Given the description of an element on the screen output the (x, y) to click on. 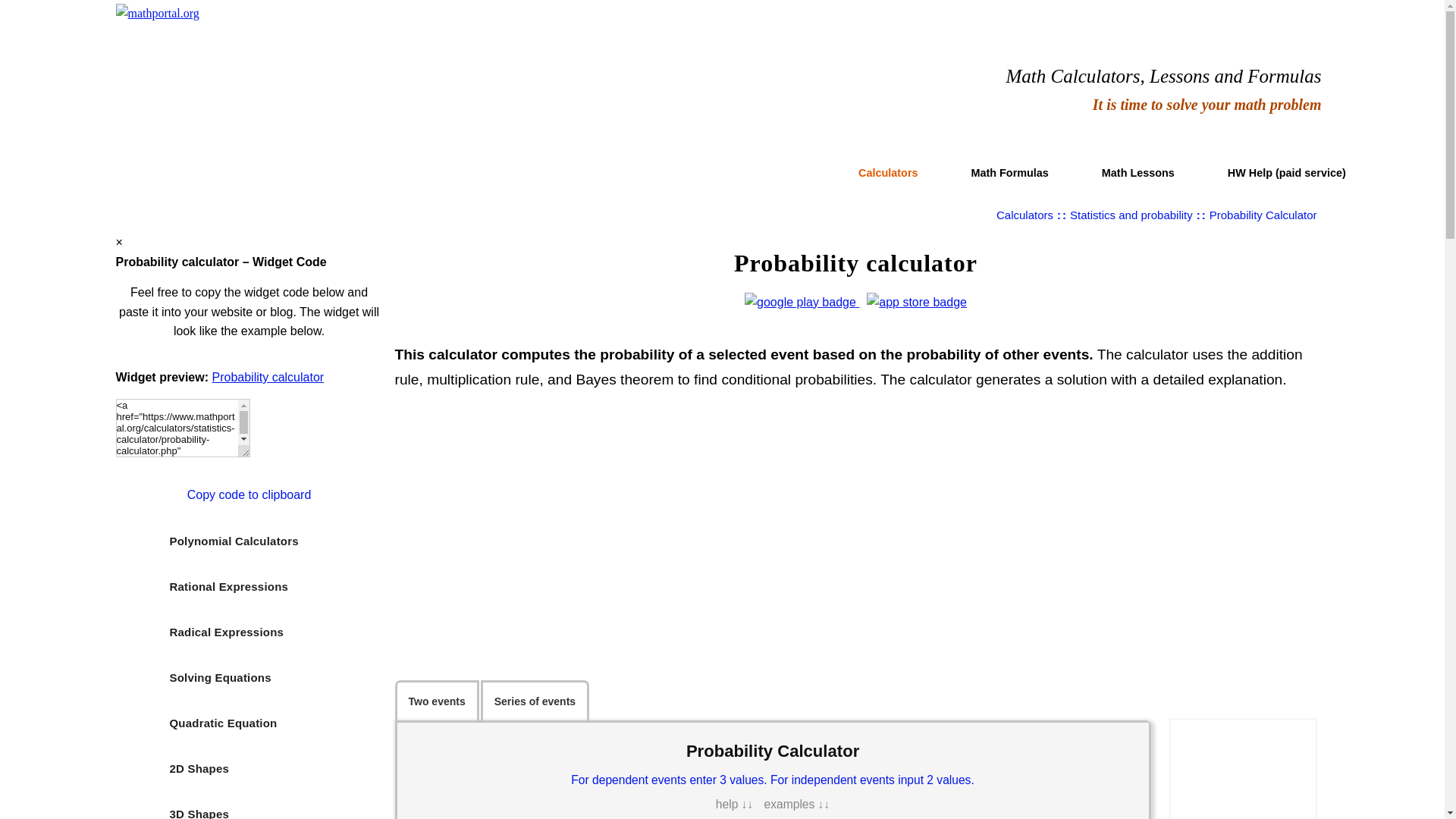
Calculators (1066, 10)
Math Tests (1251, 10)
Two events (436, 701)
Statistics and probability (1131, 214)
Math Formulas (1126, 10)
Math Lessons (1193, 10)
Math Lessons (1138, 171)
Copy code to clipboard (249, 494)
Probability calculator (268, 377)
Series of events (534, 701)
Calculators (887, 172)
Calculators (1023, 214)
mathportal.org (156, 13)
Site map (1300, 10)
Math Formulas (1009, 171)
